Given the description of an element on the screen output the (x, y) to click on. 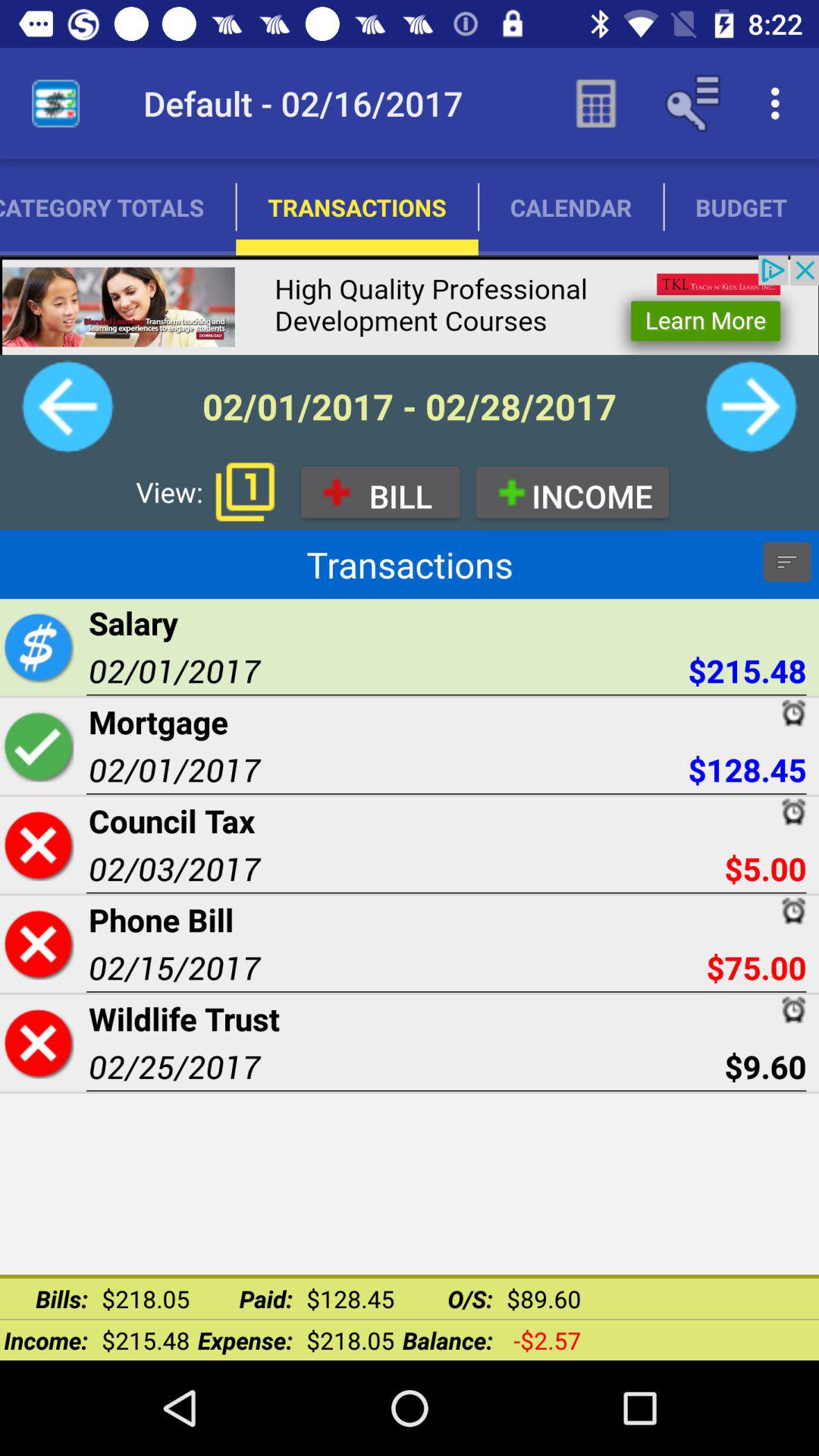
go back (67, 406)
